Given the description of an element on the screen output the (x, y) to click on. 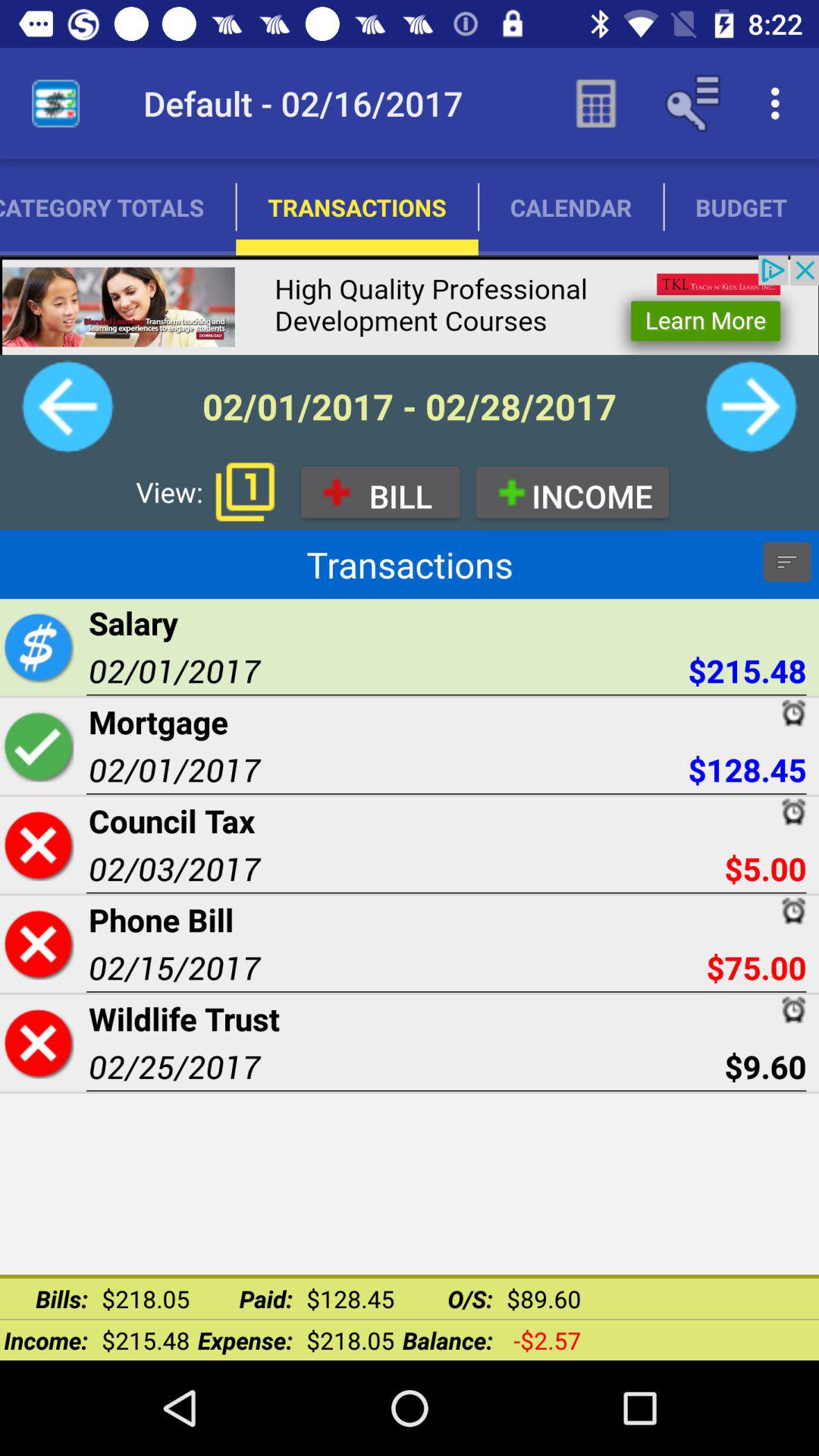
go back (67, 406)
